Given the description of an element on the screen output the (x, y) to click on. 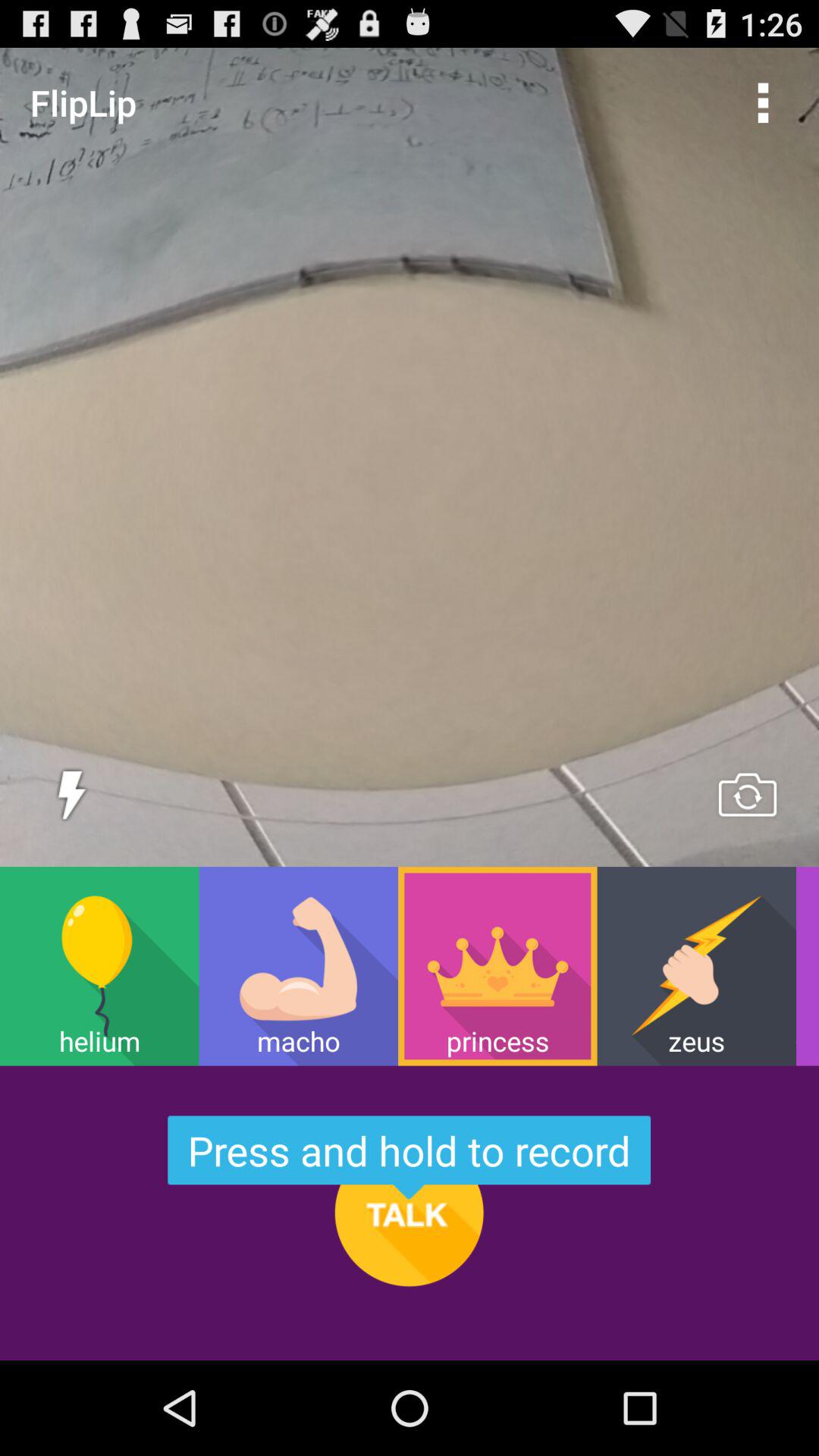
press icon to the right of the zeus (807, 965)
